Given the description of an element on the screen output the (x, y) to click on. 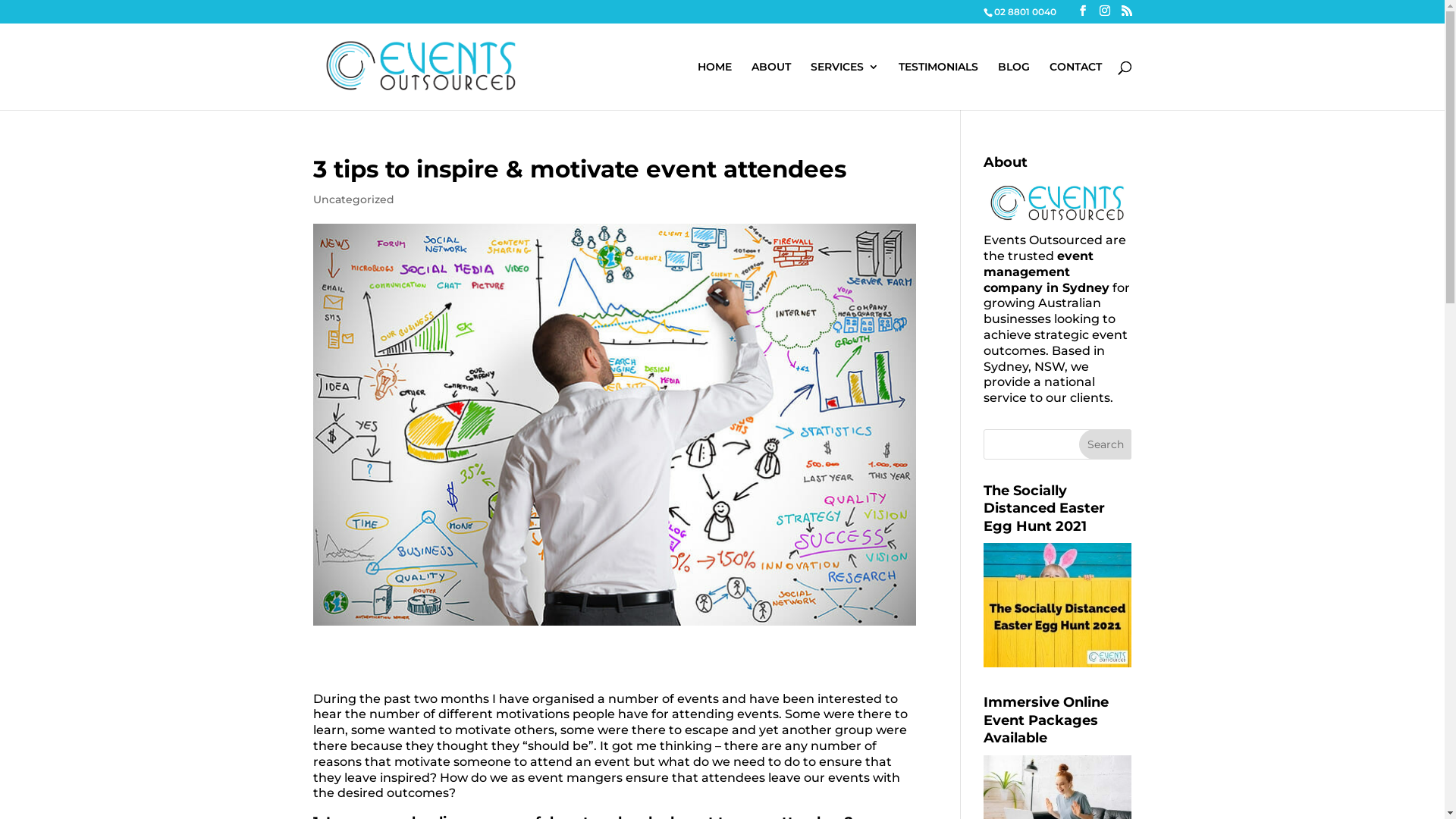
Search Element type: text (1105, 444)
ABOUT Element type: text (770, 85)
HOME Element type: text (714, 85)
CONTACT Element type: text (1075, 85)
Uncategorized Element type: text (352, 199)
TESTIMONIALS Element type: text (937, 85)
SERVICES Element type: text (843, 85)
BLOG Element type: text (1013, 85)
02 8801 0040 Element type: text (1024, 11)
